Given the description of an element on the screen output the (x, y) to click on. 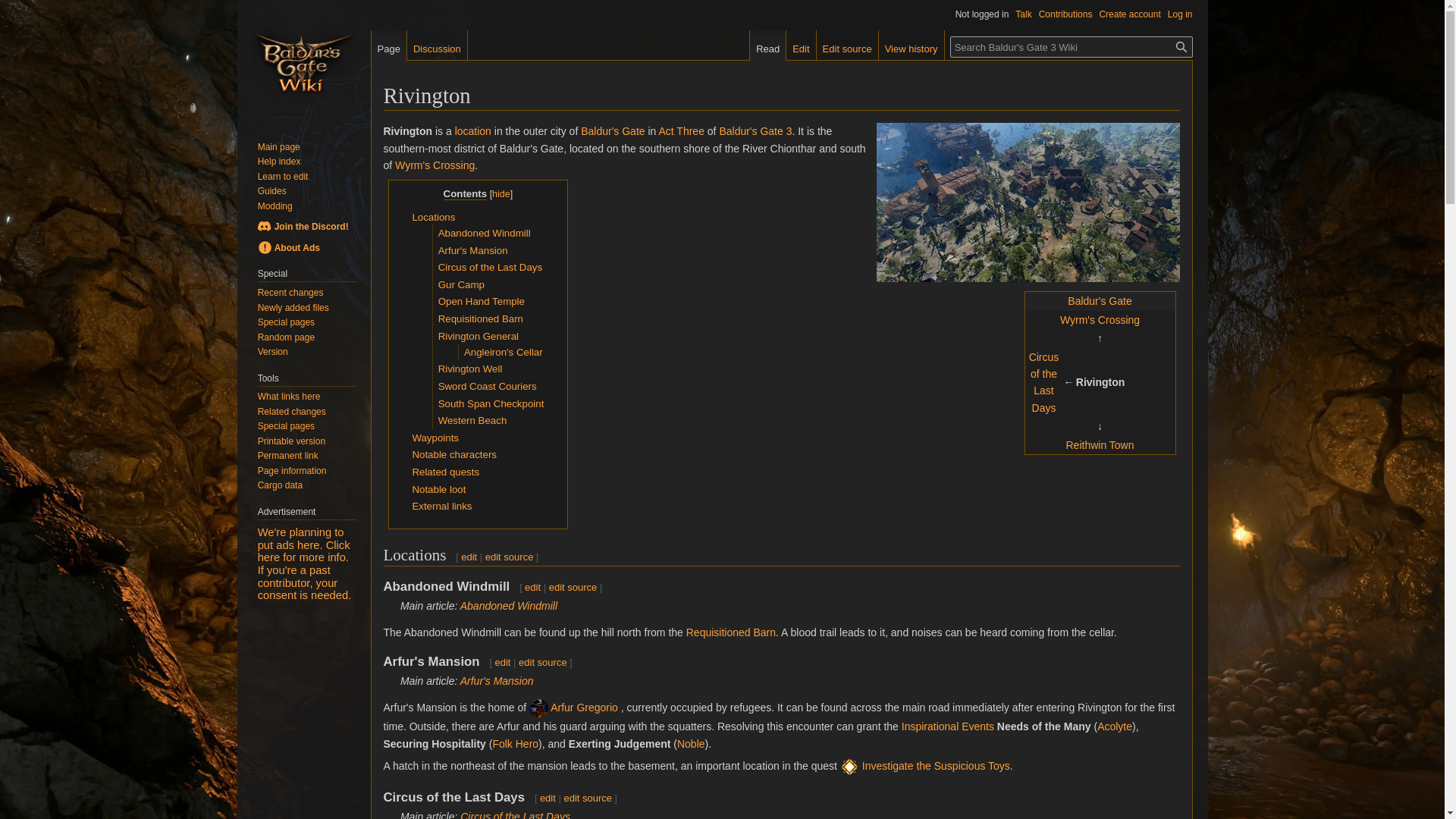
Edit section: Abandoned Windmill (572, 586)
South Span Checkpoint (491, 403)
Edit section: Arfur's Mansion (503, 662)
Arfur's Mansion (497, 680)
Wyrm's Crossing (434, 164)
Rivington Well (470, 368)
Wyrm's Crossing (434, 164)
Baldur's Gate 3 (755, 131)
location (473, 131)
Abandoned Windmill (508, 605)
Sword Coast Couriers (487, 386)
edit (469, 556)
Related quests (445, 471)
Requisitioned Barn (730, 632)
edit (532, 586)
